Given the description of an element on the screen output the (x, y) to click on. 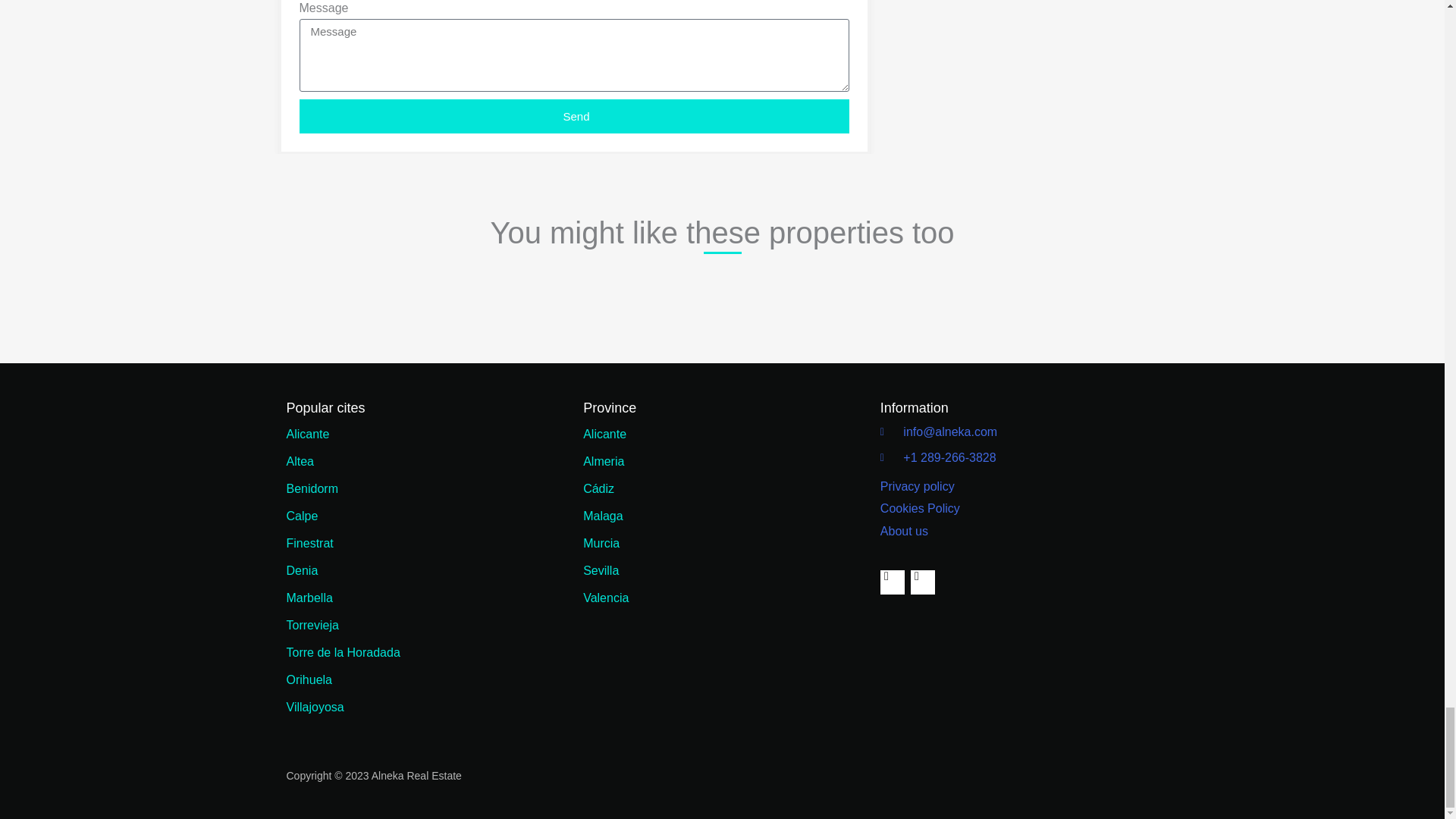
Benidorm (425, 488)
Alicante (425, 433)
Altea (425, 461)
Finestrat (425, 543)
Send (573, 116)
Torre de la Horadada (425, 652)
Marbella (425, 597)
Torrevieja (425, 625)
Calpe (425, 515)
Denia (425, 570)
